Given the description of an element on the screen output the (x, y) to click on. 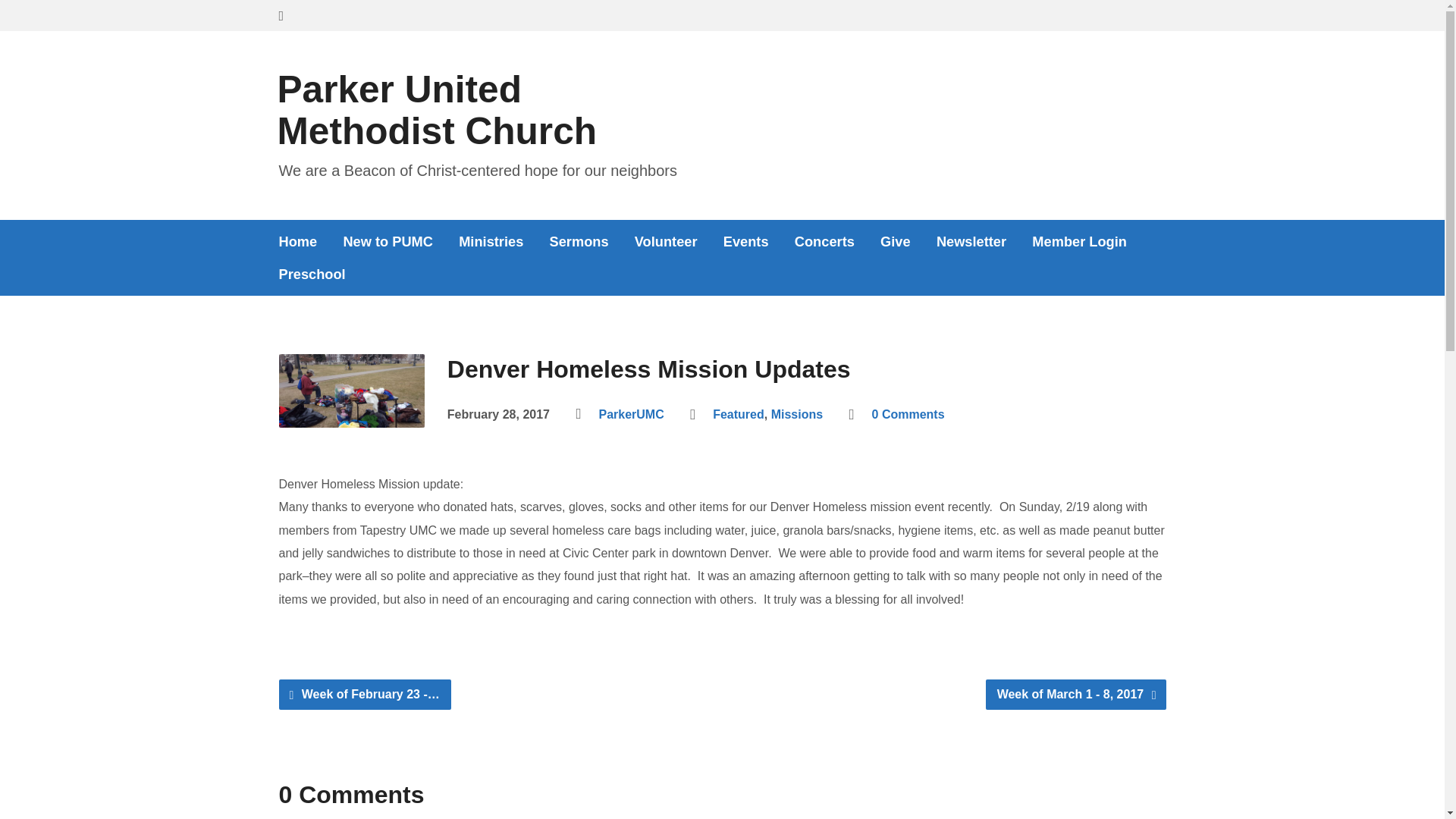
Home (298, 241)
Give (895, 241)
Volunteer (665, 241)
Member Login (1079, 241)
Ministries (490, 241)
Events (745, 241)
Concerts (824, 241)
Toggle Search (281, 16)
Newsletter (971, 241)
Preschool (312, 274)
Parker United Methodist Church (437, 109)
New to PUMC (387, 241)
Sermons (579, 241)
0 Comments (908, 413)
